Given the description of an element on the screen output the (x, y) to click on. 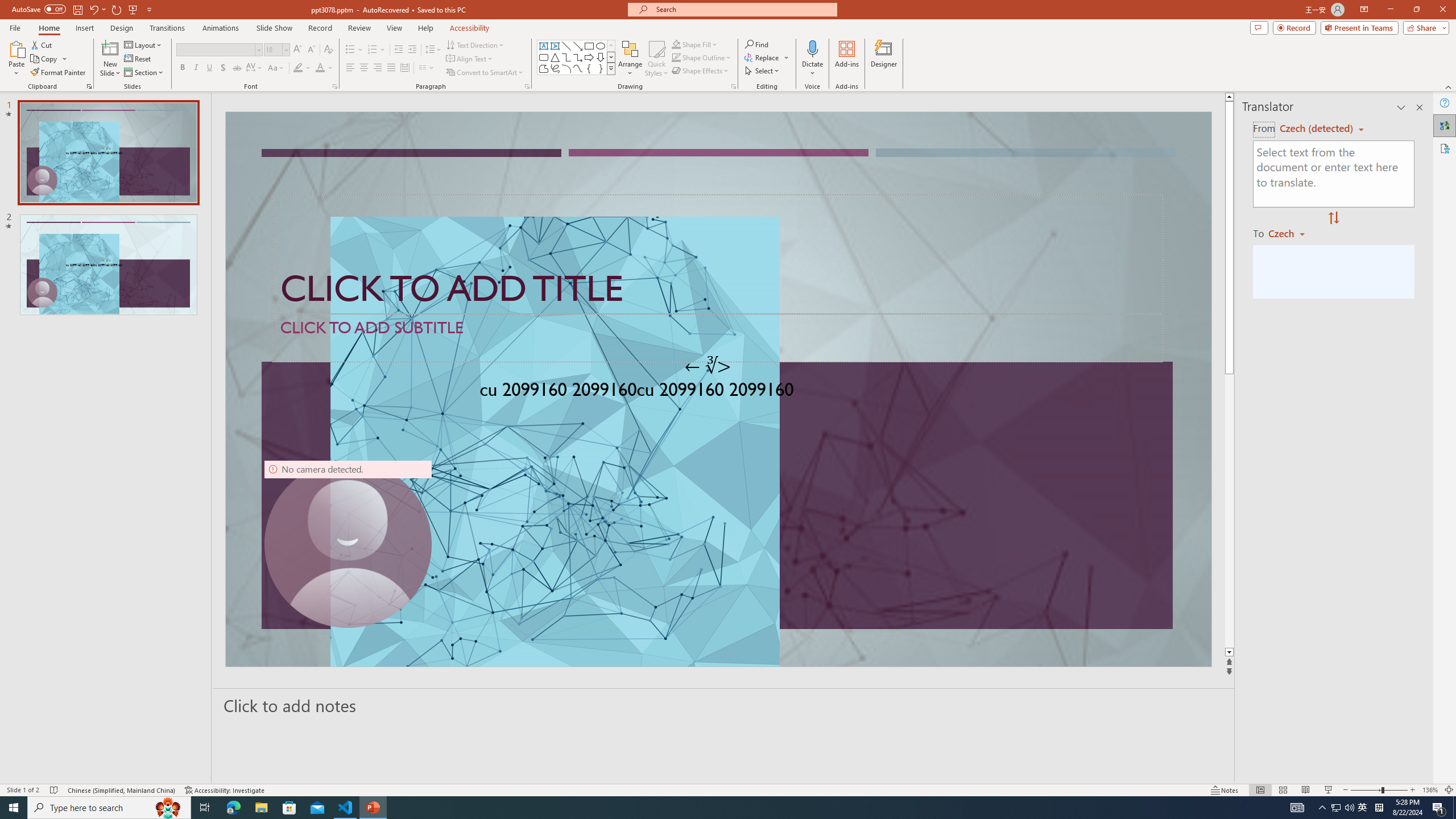
Shape Effects (700, 69)
